Given the description of an element on the screen output the (x, y) to click on. 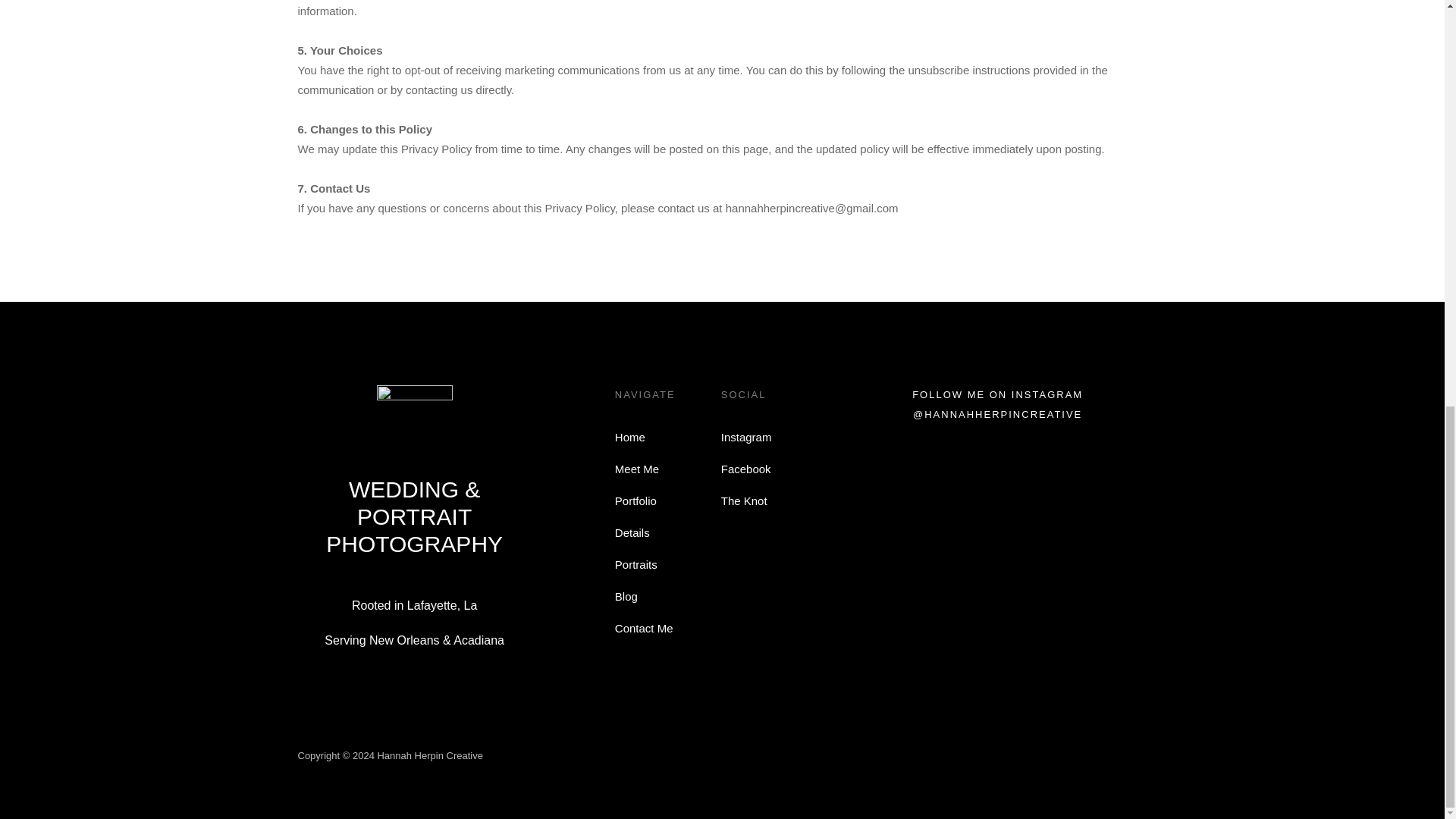
Instagram (745, 437)
Portfolio (635, 501)
The Knot (743, 501)
Blog (625, 596)
Portraits (636, 564)
Home (629, 437)
Facebook (745, 469)
Contact Me (643, 628)
FOLLOW ME ON INSTAGRAM (997, 394)
Details (631, 532)
